Given the description of an element on the screen output the (x, y) to click on. 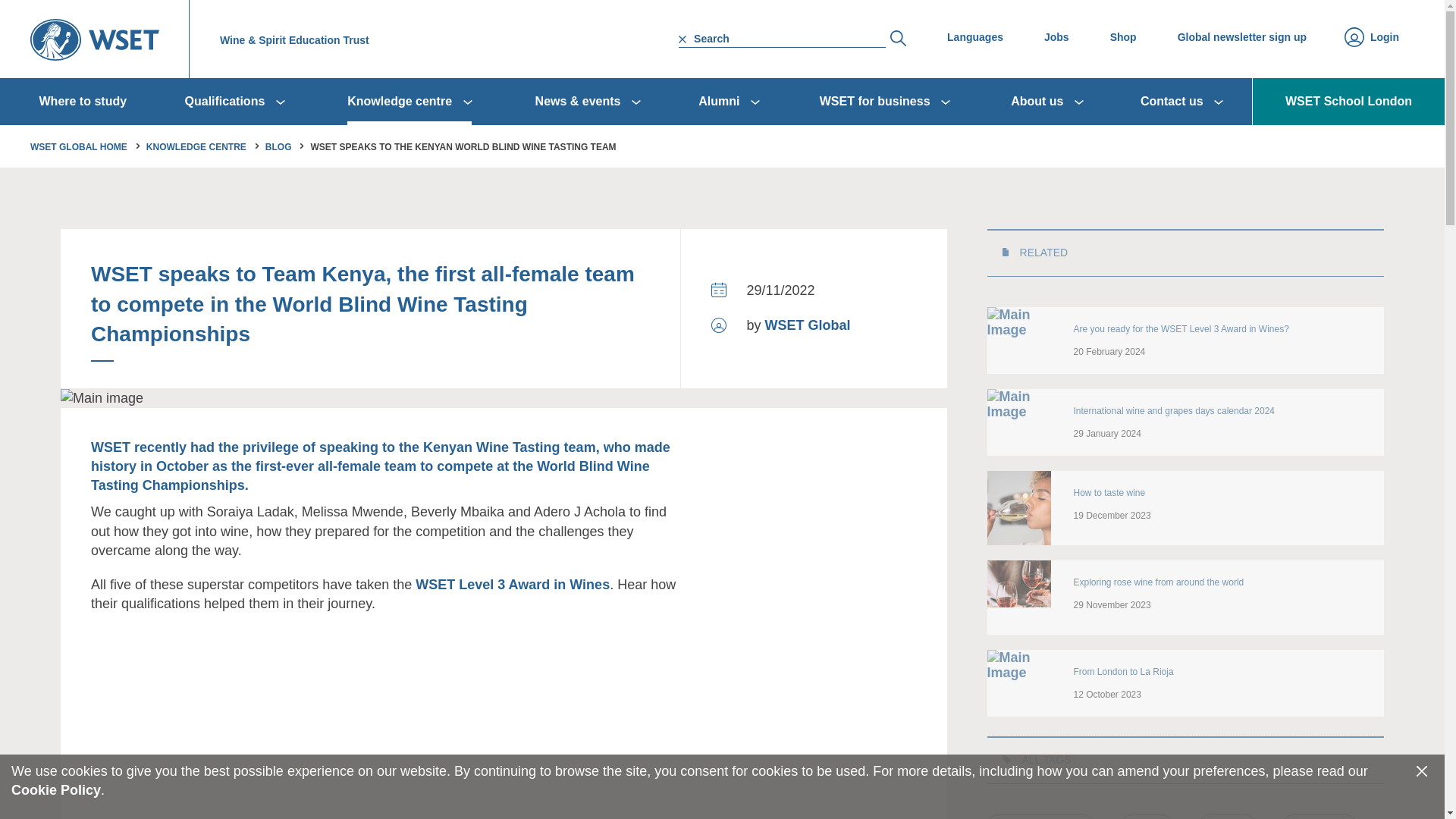
Qualifications (234, 101)
International wine and grapes days calendar 2024 (1174, 410)
Where to study (83, 101)
International wine and grapes days calendar 2024 (1019, 404)
Search (897, 37)
Knowledge centre (409, 101)
Are you ready for the WSET Level 3 Award in Wines? (1181, 328)
WSET Level 3 Award in Wines (512, 584)
Login (1384, 37)
Are you ready for the WSET Level 3 Award in Wines? (1019, 322)
